Given the description of an element on the screen output the (x, y) to click on. 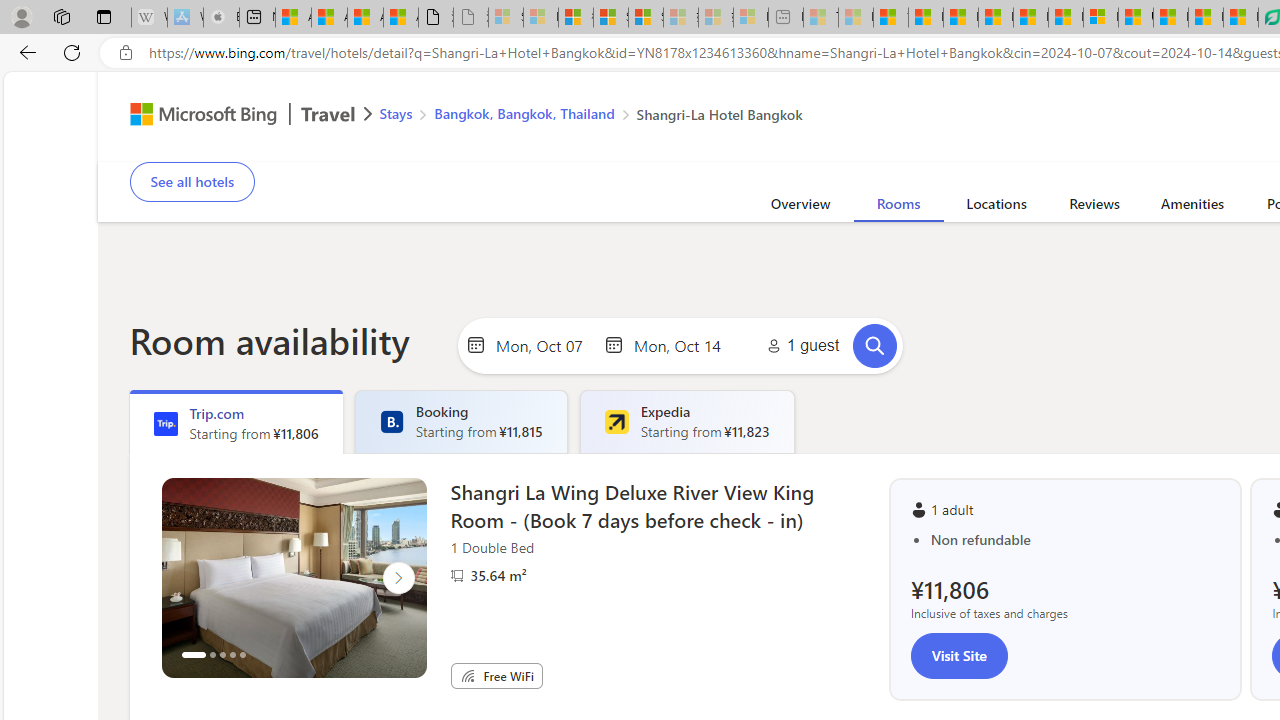
US Heat Deaths Soared To Record High Last Year (1135, 17)
Free parking (641, 148)
Free WiFi (467, 676)
Start Date (544, 344)
Bangkok, Bangkok, Thailand (523, 112)
Foo BAR | Trusted Community Engagement and Contributions (1065, 17)
Locations (996, 207)
Partner Image (456, 575)
2,234 Booking.com reviews (278, 128)
Valet parking (793, 148)
